Given the description of an element on the screen output the (x, y) to click on. 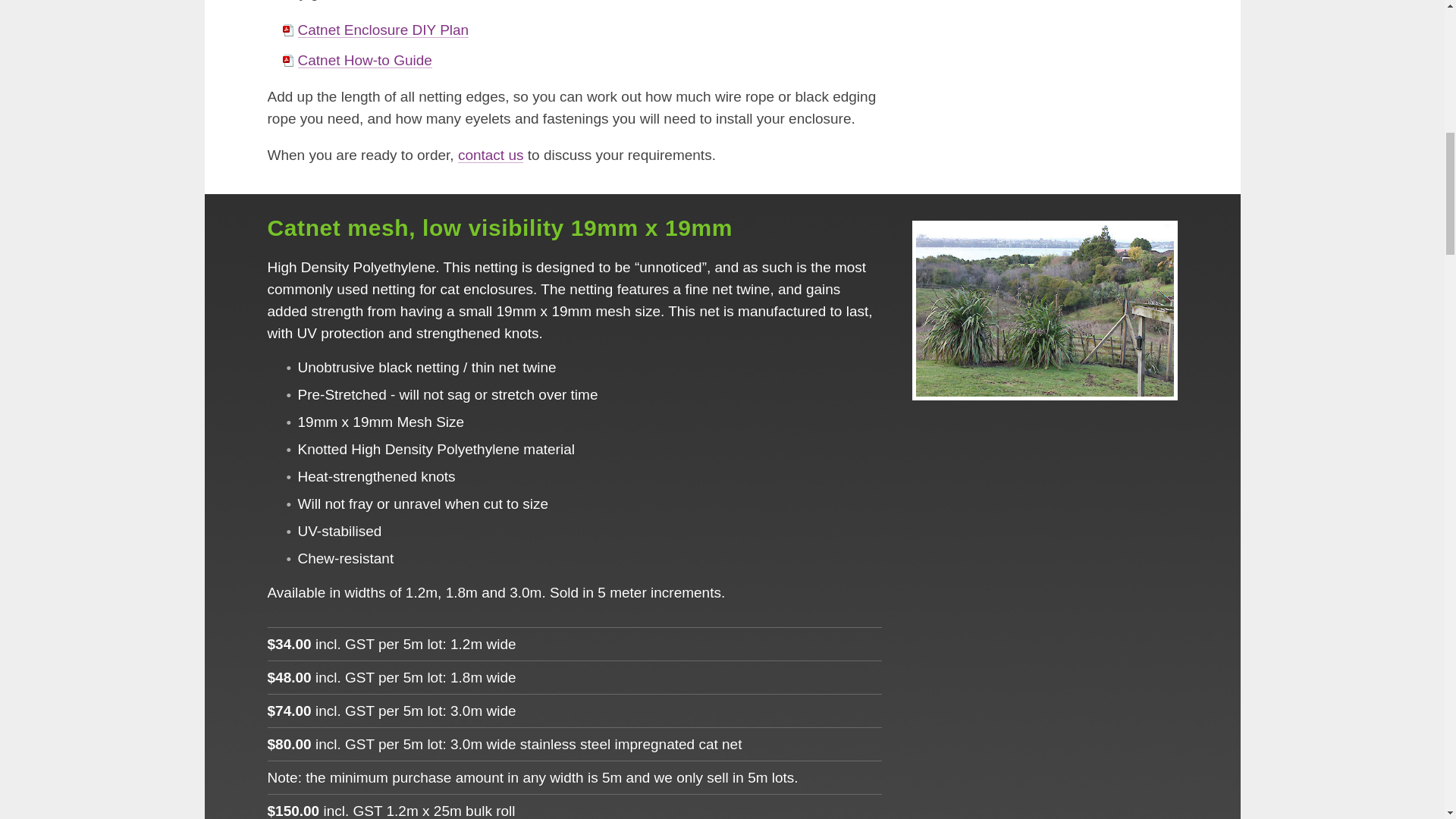
Catnet Enclosure DIY Plan (382, 29)
contact us (491, 154)
Catnet How-to Guide (363, 59)
